Given the description of an element on the screen output the (x, y) to click on. 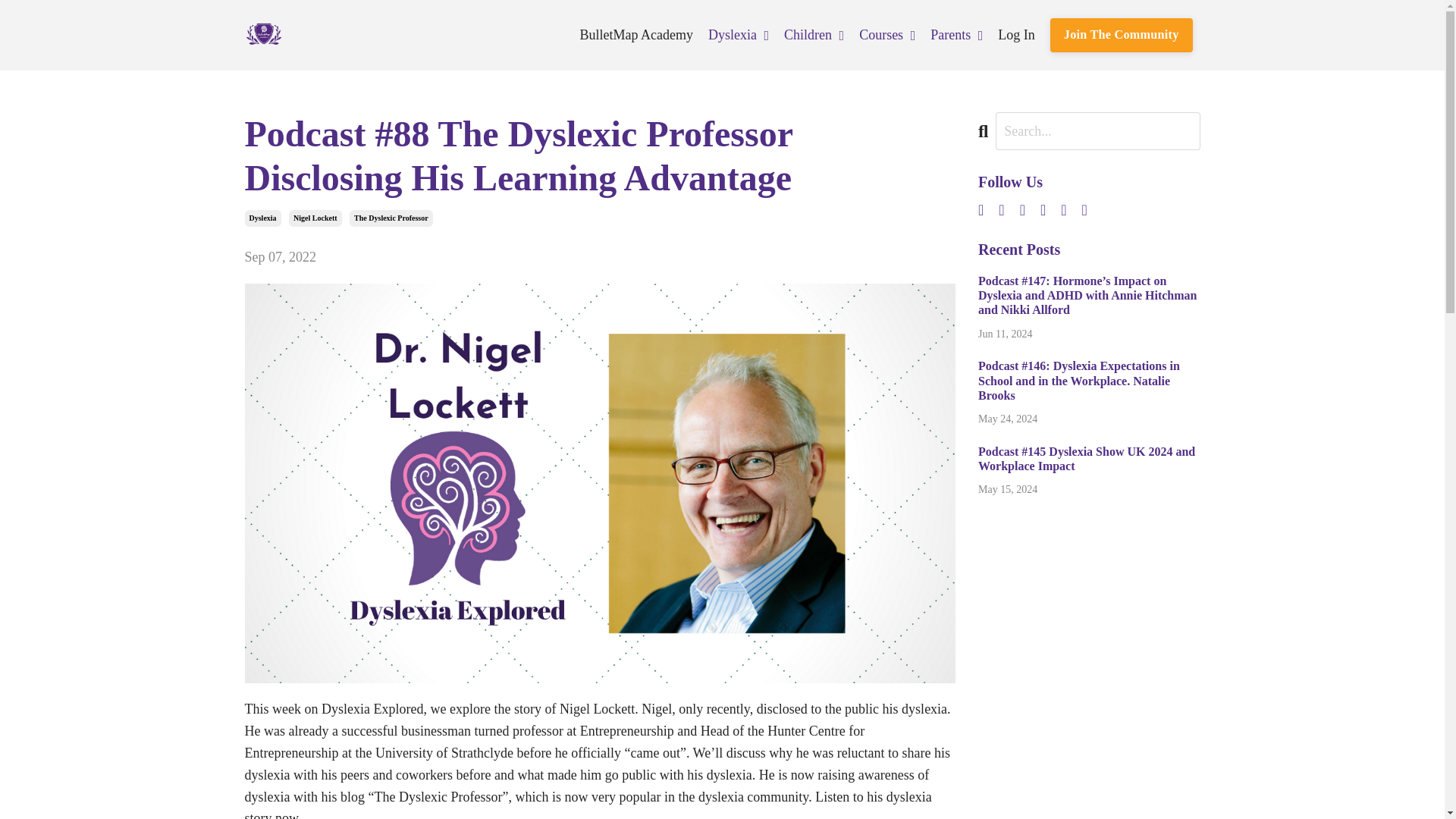
Courses (887, 34)
Dyslexia (262, 217)
Join The Community (1120, 34)
Parents (956, 34)
The Dyslexic Professor (390, 217)
BulletMap Academy (636, 34)
Nigel Lockett (315, 217)
Dyslexia (737, 34)
Children (814, 34)
Log In (1016, 34)
